Given the description of an element on the screen output the (x, y) to click on. 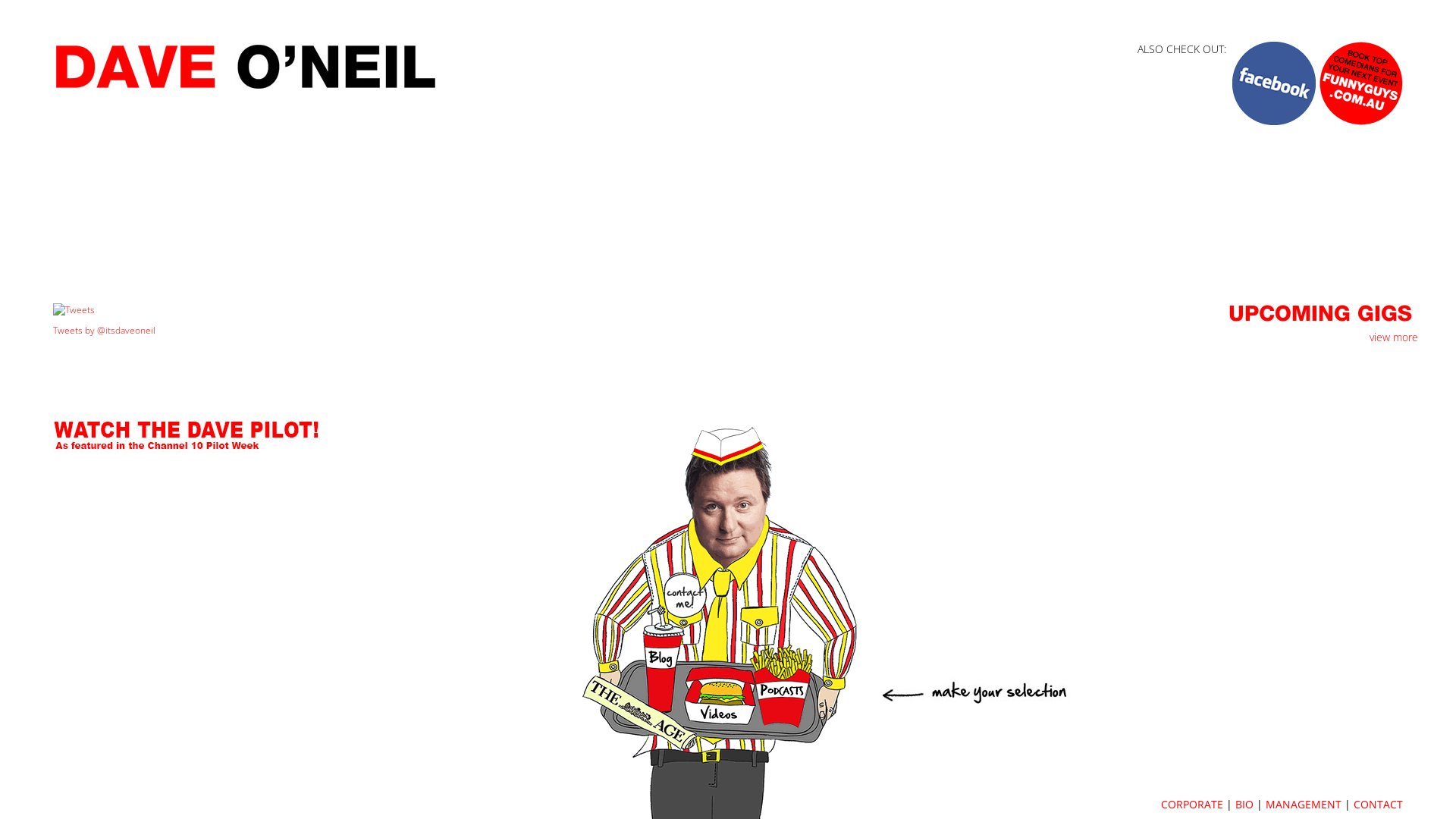
CORPORATE Element type: text (1192, 804)
MANAGEMENT Element type: text (1303, 804)
BIO Element type: text (1244, 804)
CONTACT Element type: text (1377, 804)
view more Element type: text (1393, 336)
Tweets by @itsdaveoneil Element type: text (104, 329)
